Given the description of an element on the screen output the (x, y) to click on. 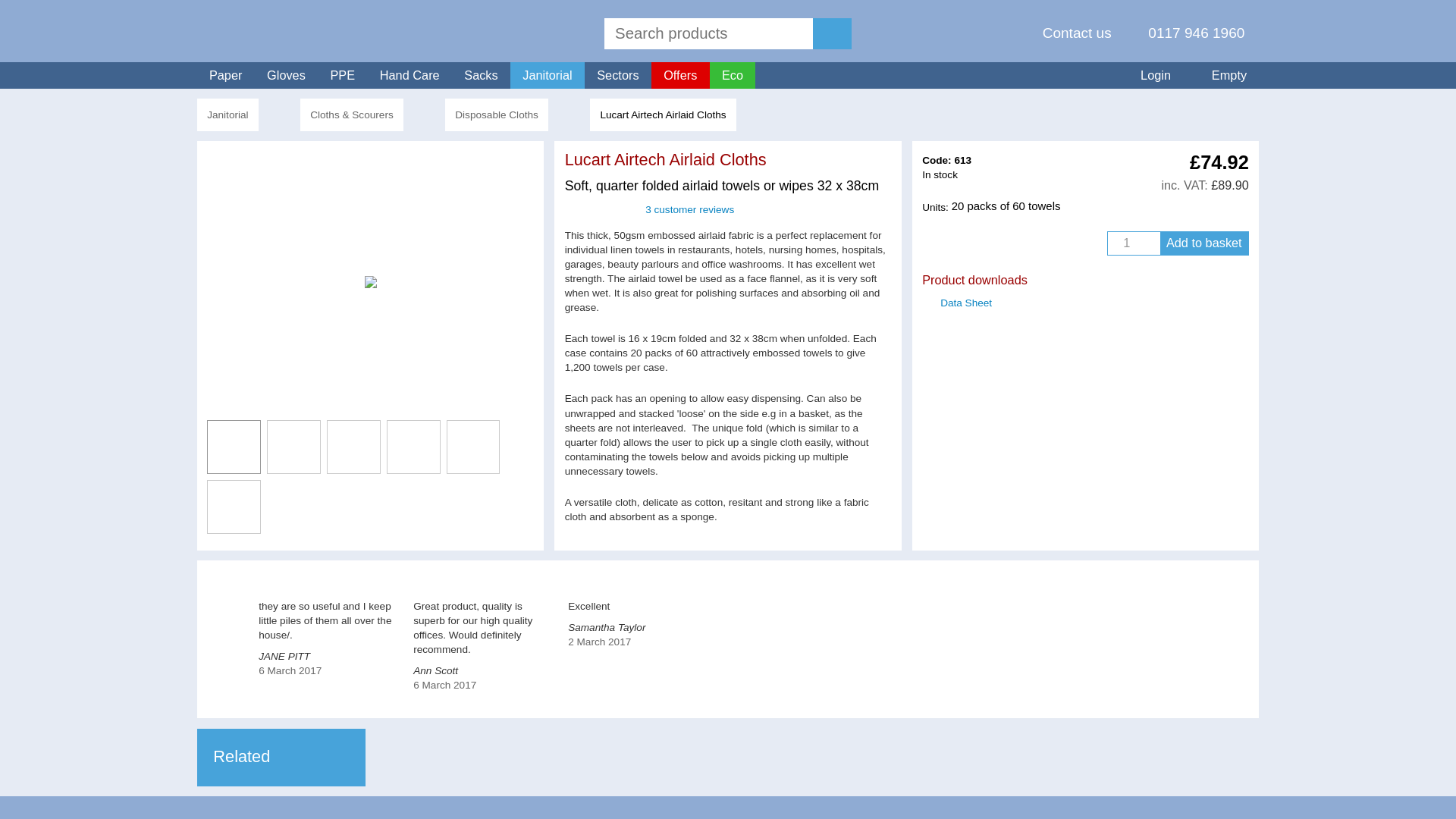
Quantity (1132, 242)
Lucart Airtech Airlaid Cloths further image (233, 506)
Empty (1220, 75)
Data Sheet (965, 302)
Sacks (481, 75)
  3 customer reviews (649, 209)
Search (708, 33)
Disposable Cloths (496, 114)
0117 946 1960 (1186, 32)
Janitorial (548, 75)
Eco (732, 75)
Lucart Airtech Airlaid Cloths further image (293, 447)
Hygiene Depot (245, 30)
Login (1147, 75)
1 (1132, 242)
